Given the description of an element on the screen output the (x, y) to click on. 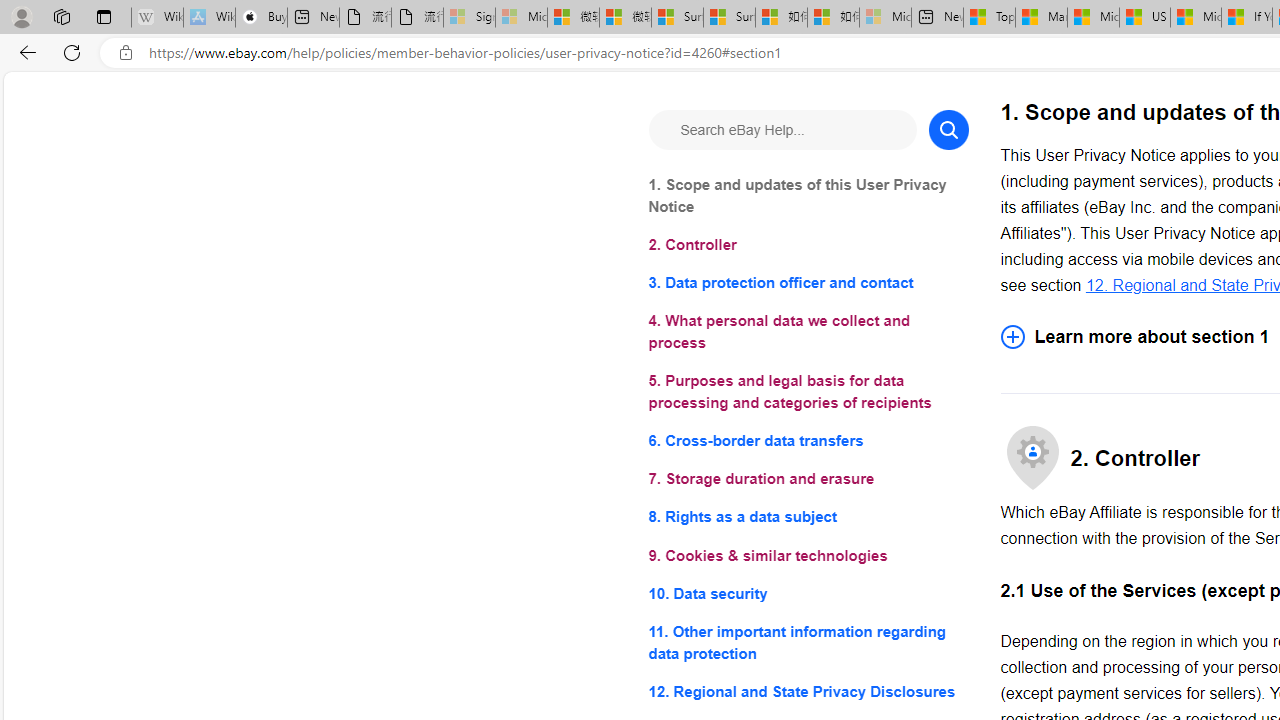
Microsoft account | Account Checkup - Sleeping (885, 17)
4. What personal data we collect and process (807, 332)
